Given the description of an element on the screen output the (x, y) to click on. 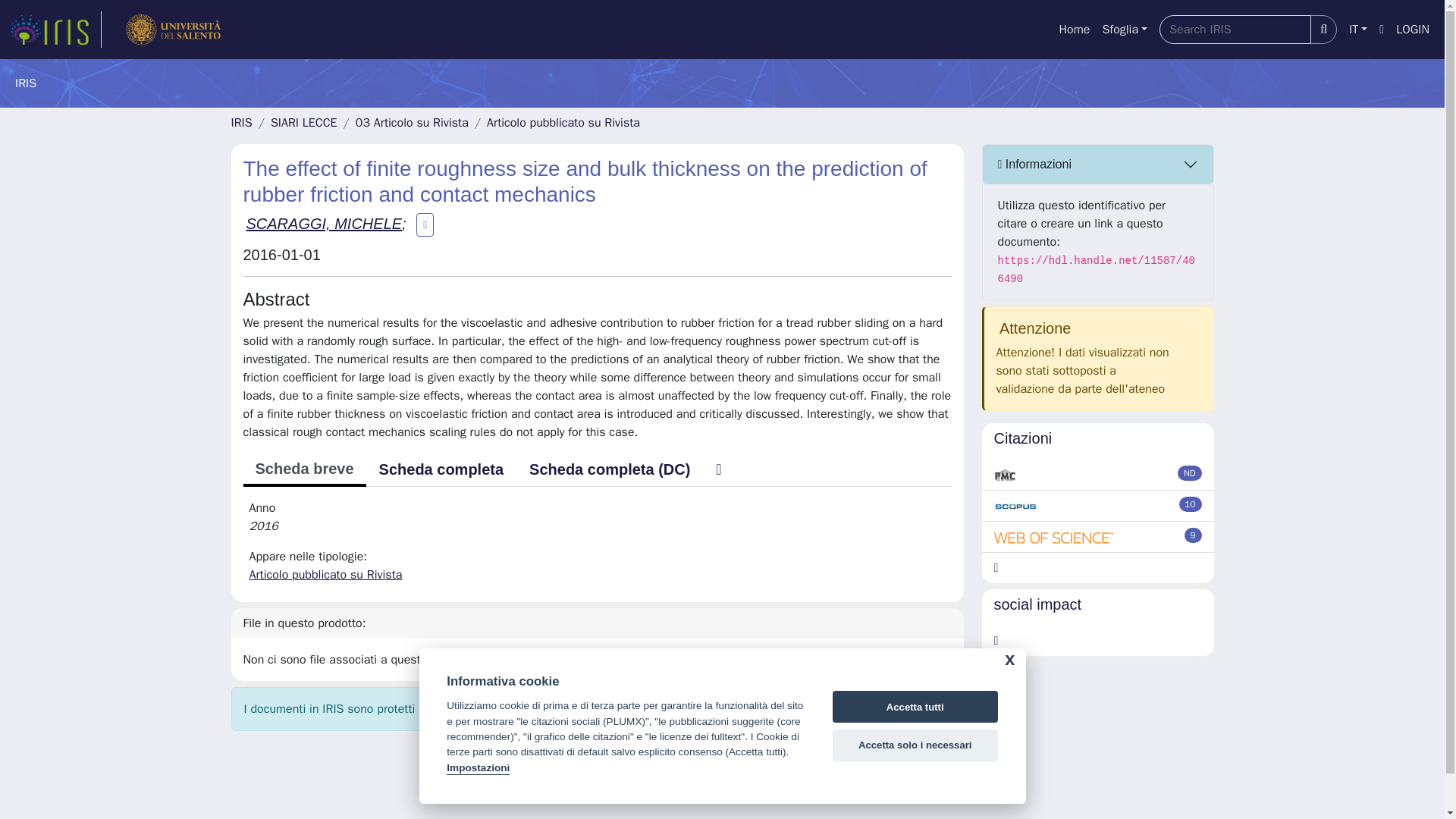
aggiornato in data 17-08-2024 18:52 (1190, 503)
Articolo pubblicato su Rivista (563, 122)
SIARI LECCE (303, 122)
Articolo pubblicato su Rivista (324, 574)
Home (1074, 29)
Scheda completa (441, 469)
Sfoglia (1124, 29)
IRIS (240, 122)
LOGIN (1412, 29)
Scheda breve (304, 469)
